Given the description of an element on the screen output the (x, y) to click on. 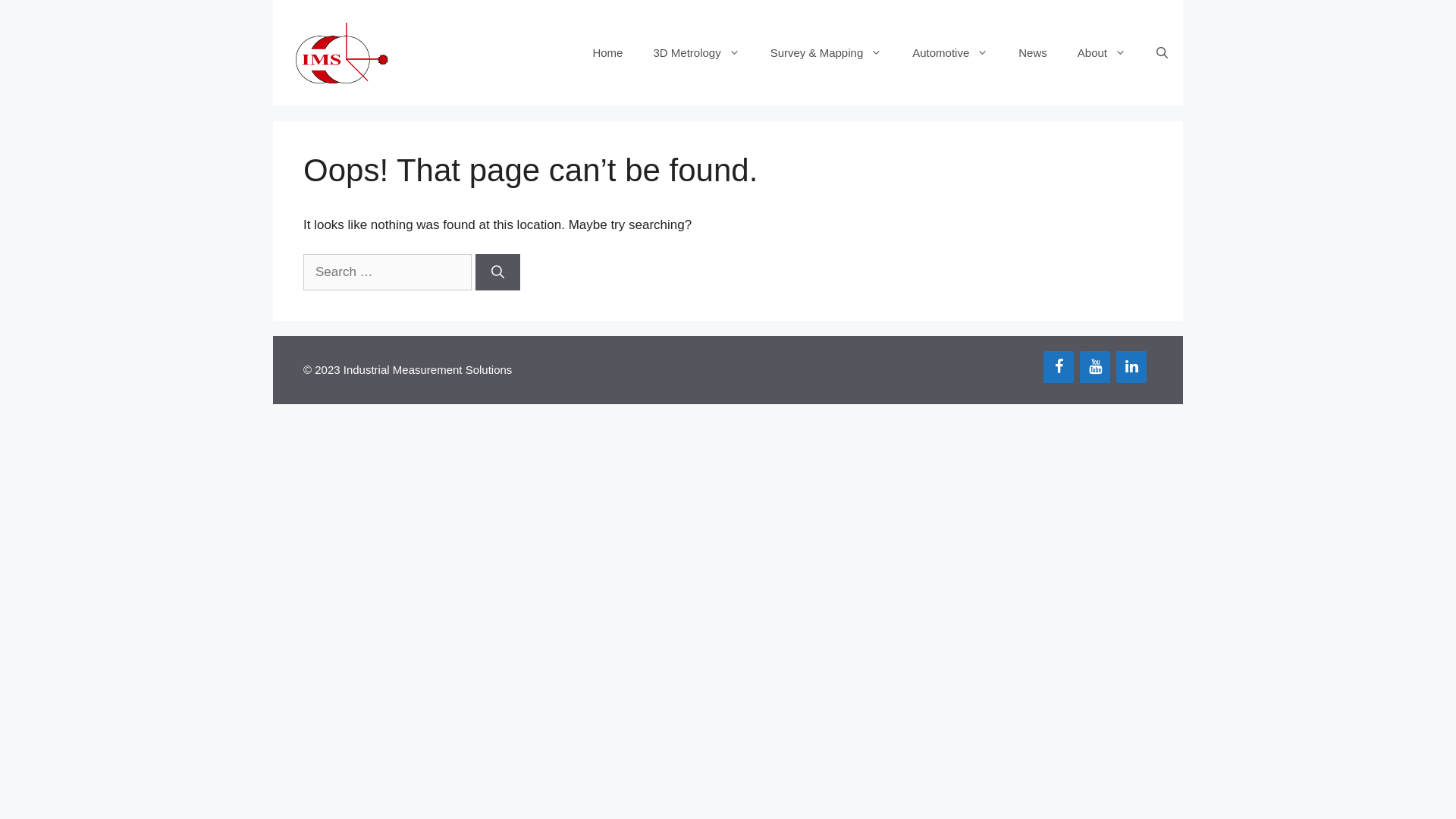
Industrial Measurement Solutions Element type: hover (341, 53)
3D Metrology Element type: text (695, 53)
Survey & Mapping Element type: text (826, 53)
LinkedIn Element type: hover (1131, 366)
Home Element type: text (607, 53)
Facebook Element type: hover (1058, 366)
YouTube Element type: hover (1094, 366)
Automotive Element type: text (950, 53)
About Element type: text (1101, 53)
News Element type: text (1032, 53)
Search for: Element type: hover (387, 272)
